Given the description of an element on the screen output the (x, y) to click on. 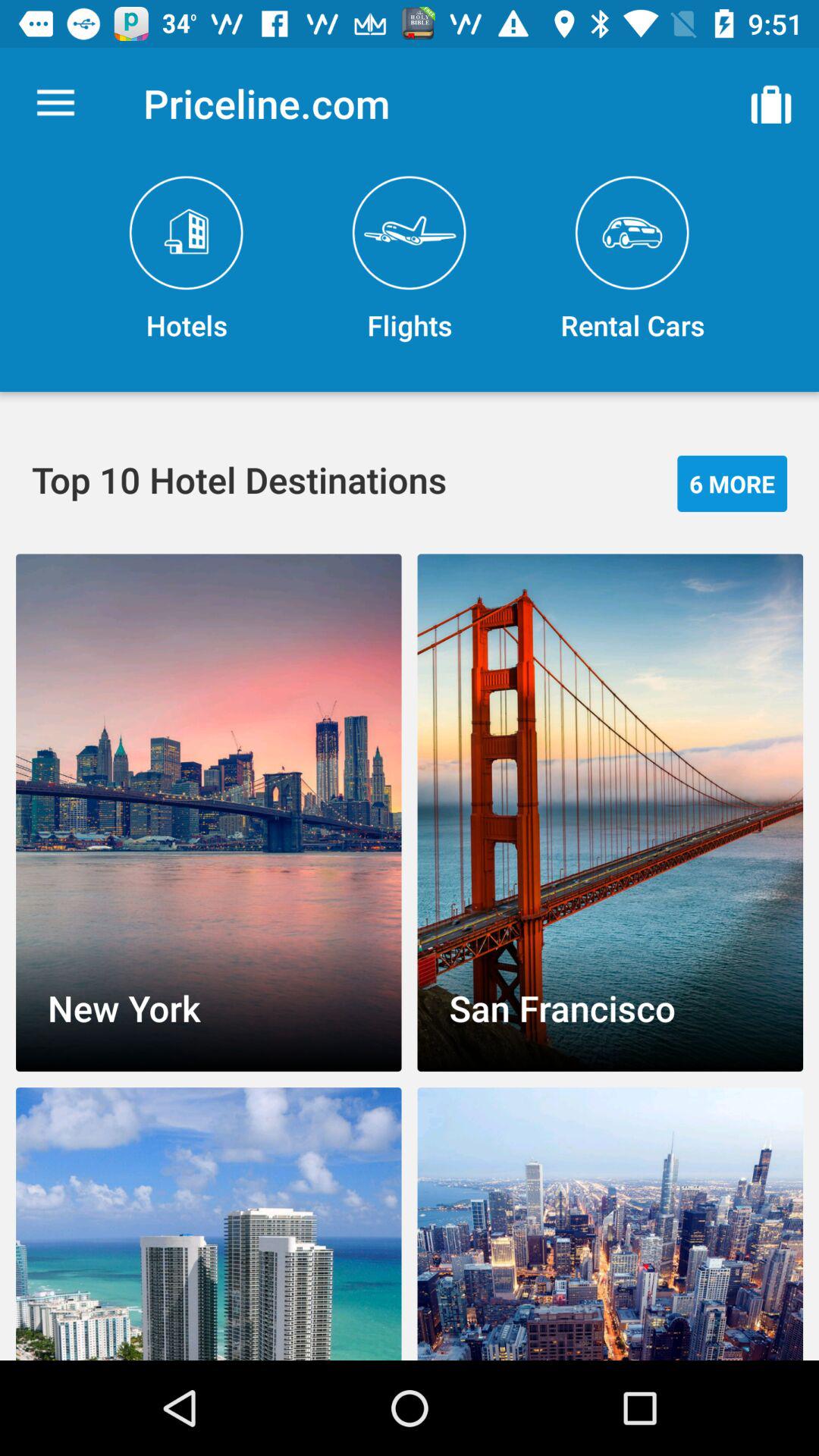
open item to the left of the flights icon (186, 259)
